Given the description of an element on the screen output the (x, y) to click on. 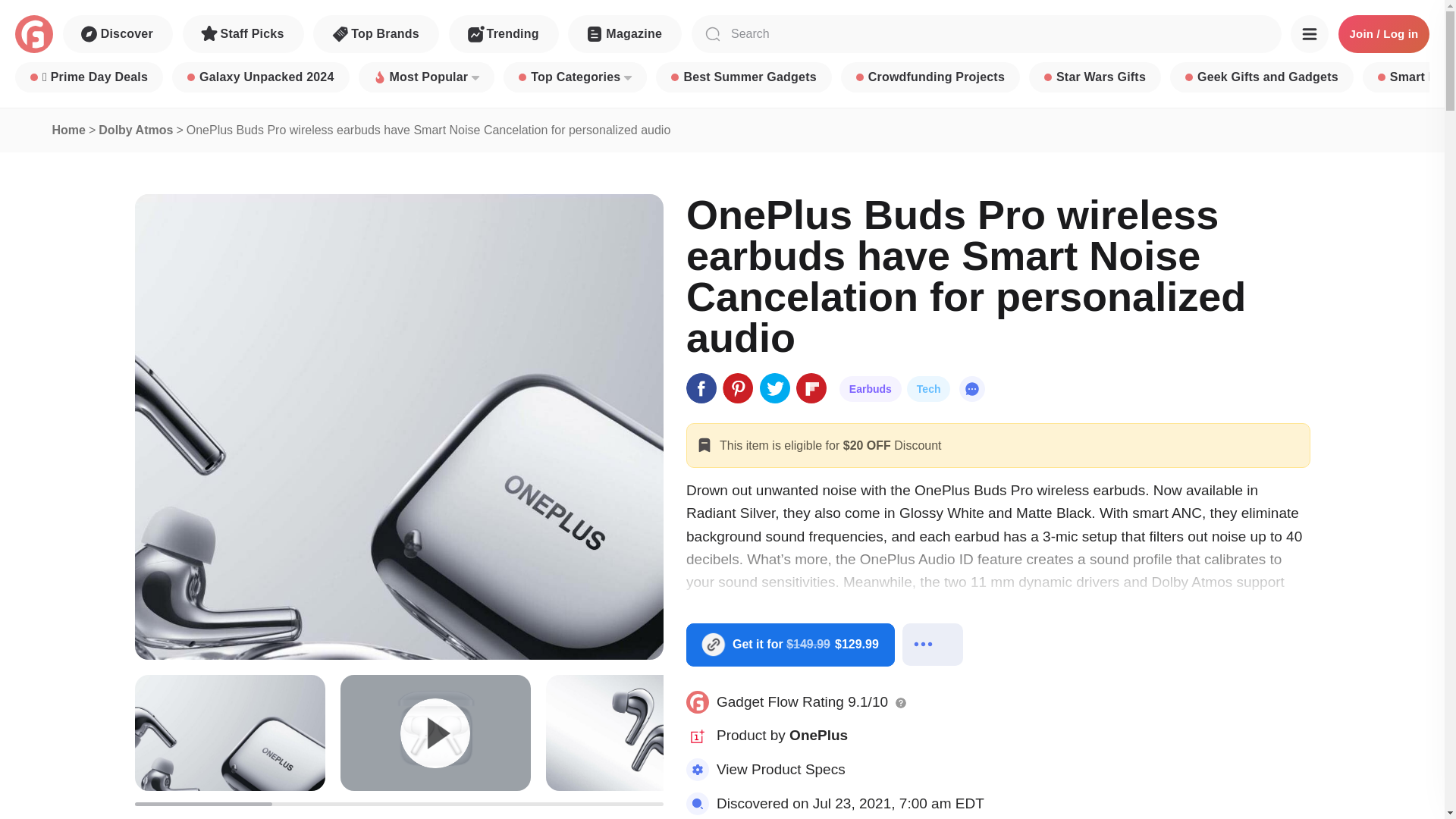
Most Popular (426, 77)
Crowdfunding Projects (930, 77)
Trending (503, 34)
Magazine (624, 34)
Gadget Flow (33, 34)
Top Categories (574, 77)
Top Brands (376, 34)
Staff Picks (243, 34)
Geek Gifts and Gadgets (1262, 77)
Best Summer Gadgets (743, 77)
Star Wars Gifts (1094, 77)
Discover (117, 34)
Galaxy Unpacked 2024 (260, 77)
